Given the description of an element on the screen output the (x, y) to click on. 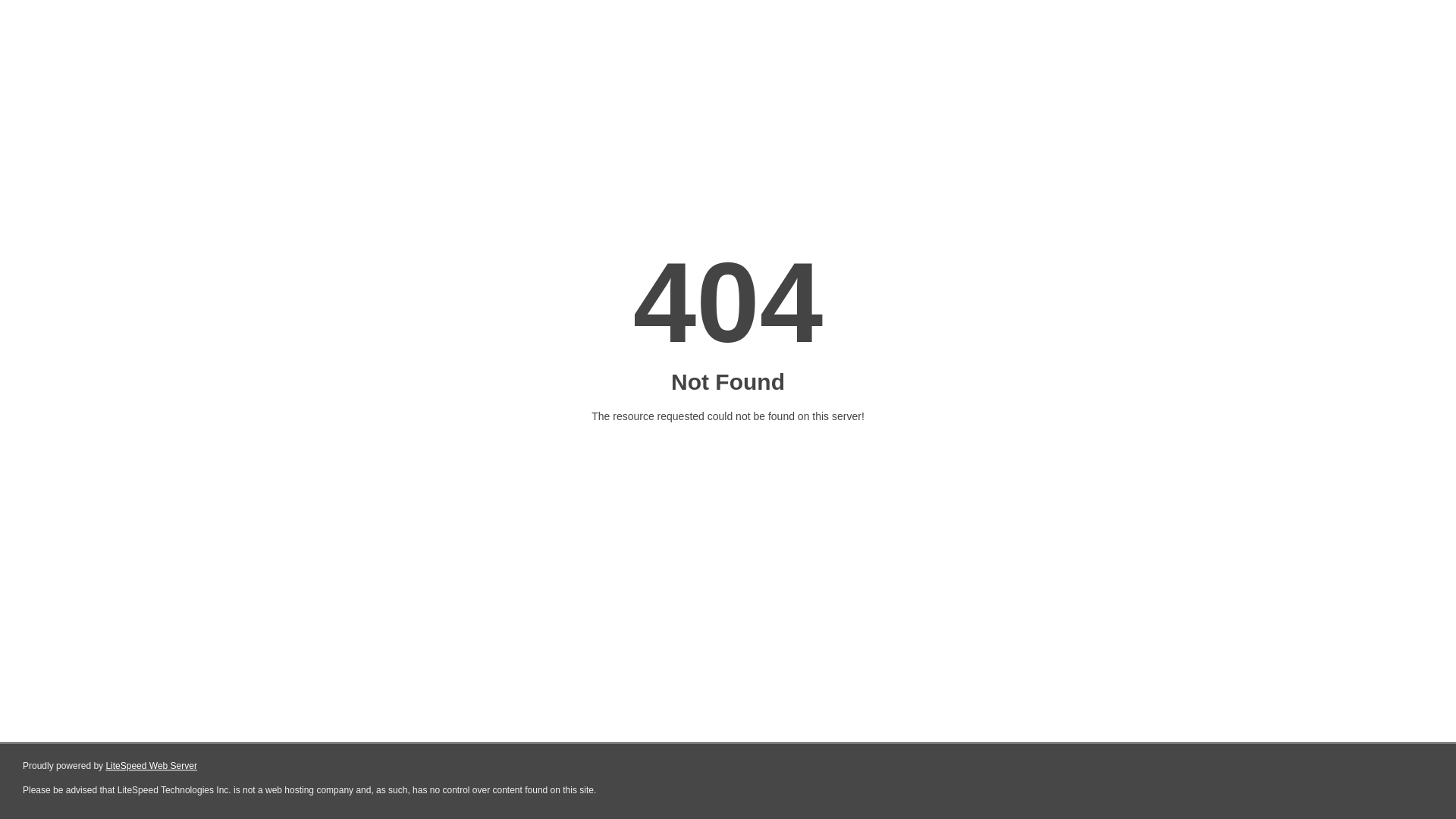
LiteSpeed Web Server Element type: text (151, 765)
